Given the description of an element on the screen output the (x, y) to click on. 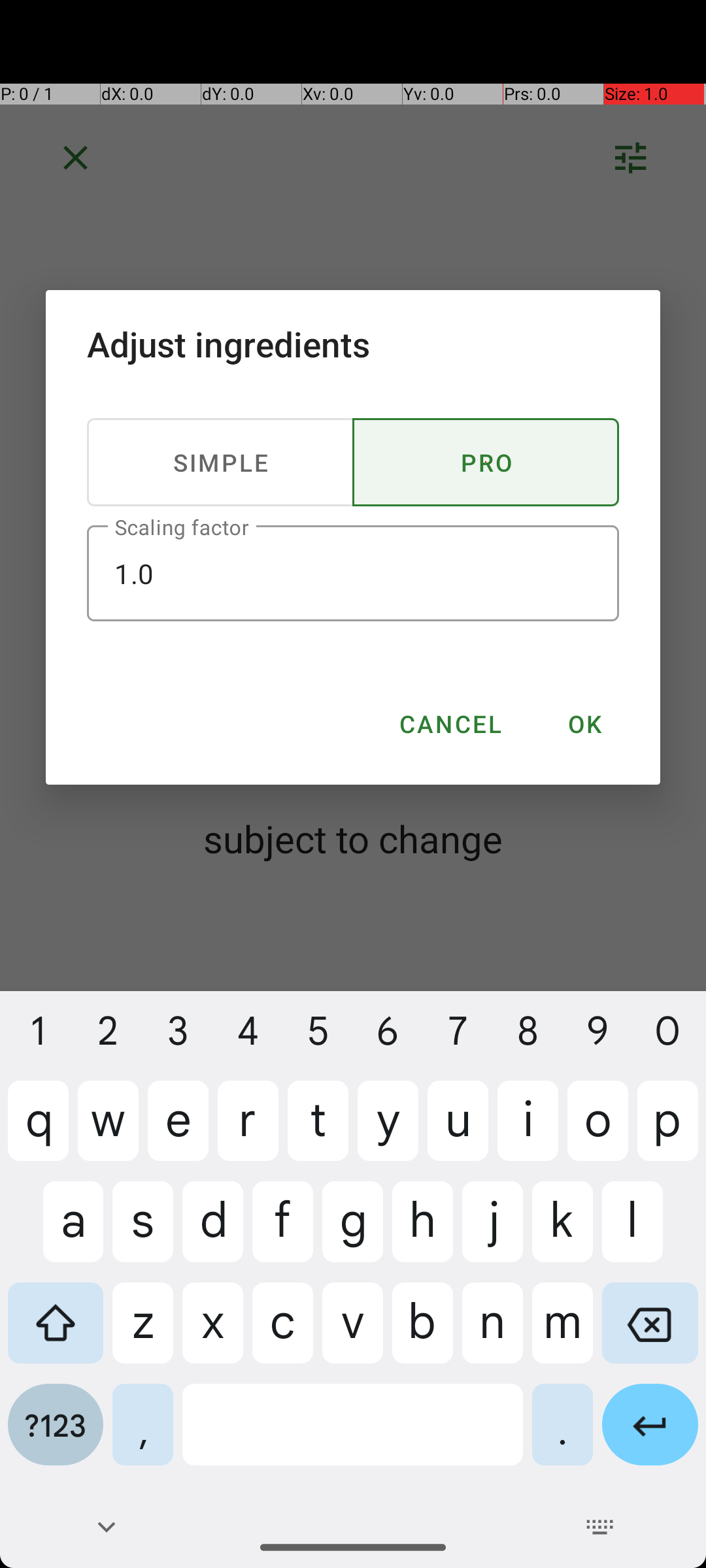
1.0 Element type: android.widget.EditText (352, 573)
